Given the description of an element on the screen output the (x, y) to click on. 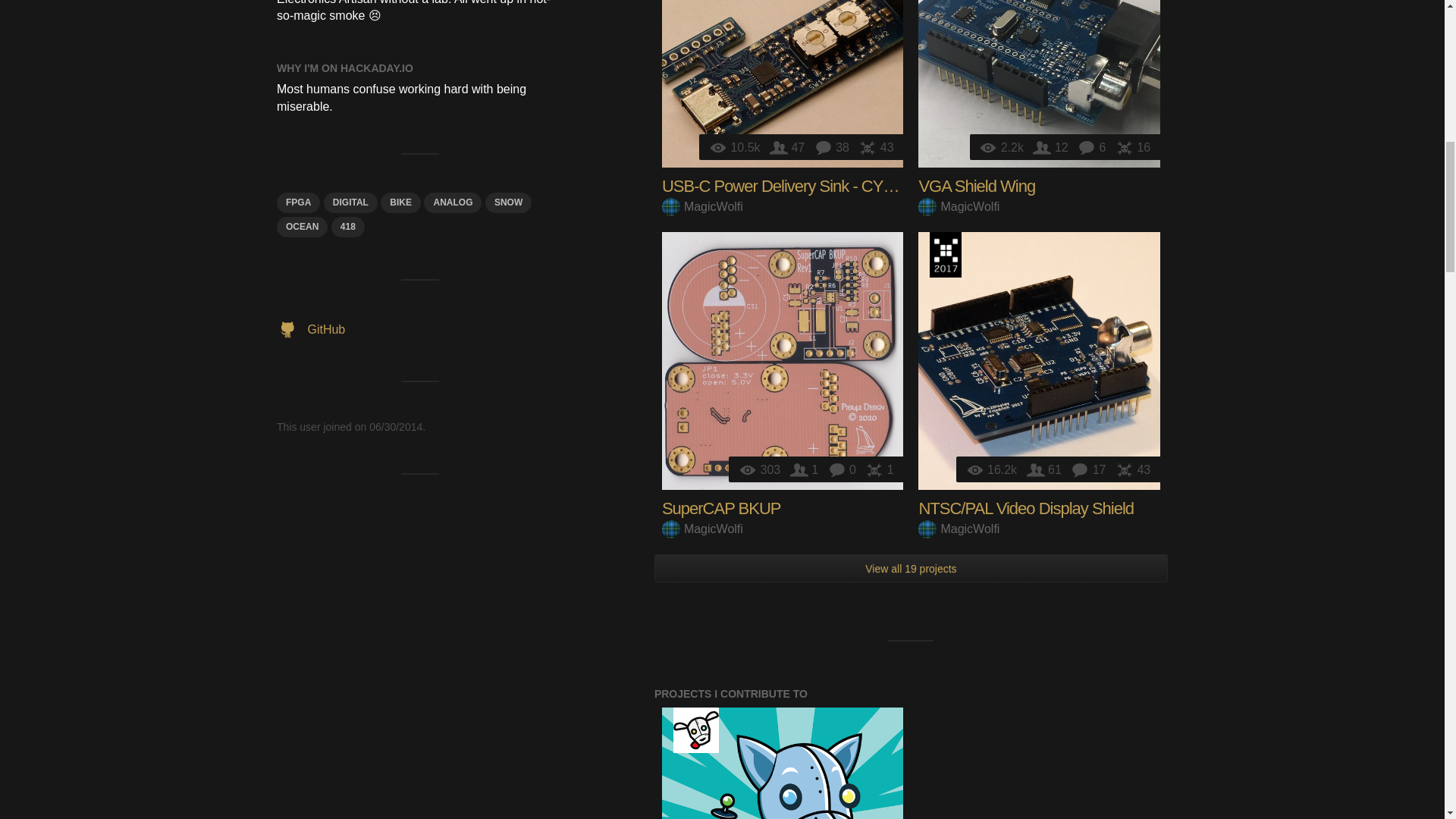
DIGITAL (350, 202)
Followers (789, 146)
View Count (735, 146)
ANALOG (452, 202)
SNOW (507, 202)
FPGA (298, 202)
BIKE (400, 202)
USB-C Power Delivery Sink - CYPD3177 by MagicWolfi (783, 83)
